Given the description of an element on the screen output the (x, y) to click on. 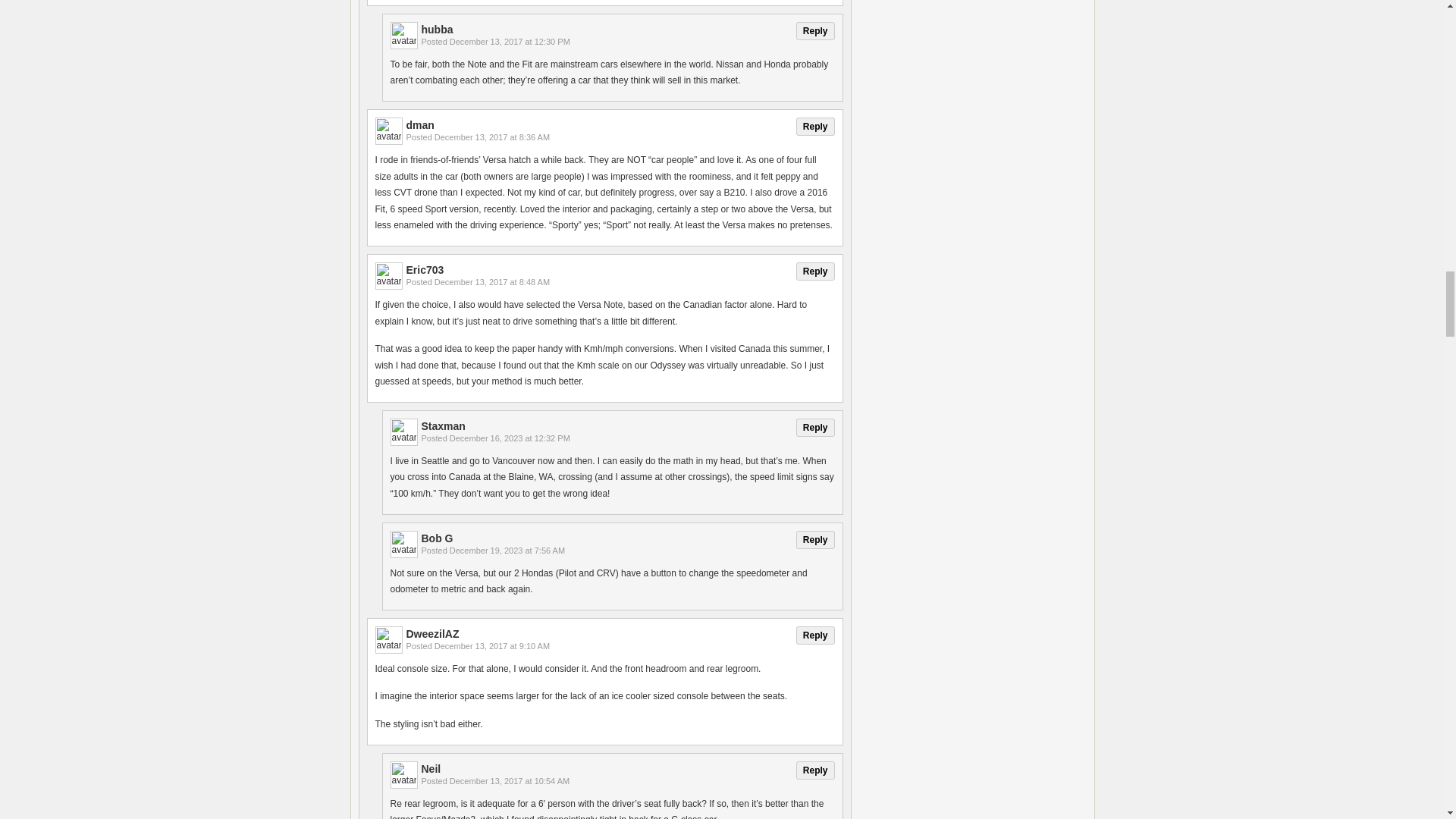
2017-12-13T08:36:46-08:00 (491, 136)
2023-12-19T07:56:09-08:00 (506, 550)
2017-12-13T08:48:41-08:00 (491, 281)
2017-12-13T10:54:38-08:00 (509, 780)
2017-12-13T12:30:18-08:00 (509, 40)
2017-12-13T09:10:28-08:00 (491, 645)
2023-12-16T12:32:58-08:00 (509, 438)
